Given the description of an element on the screen output the (x, y) to click on. 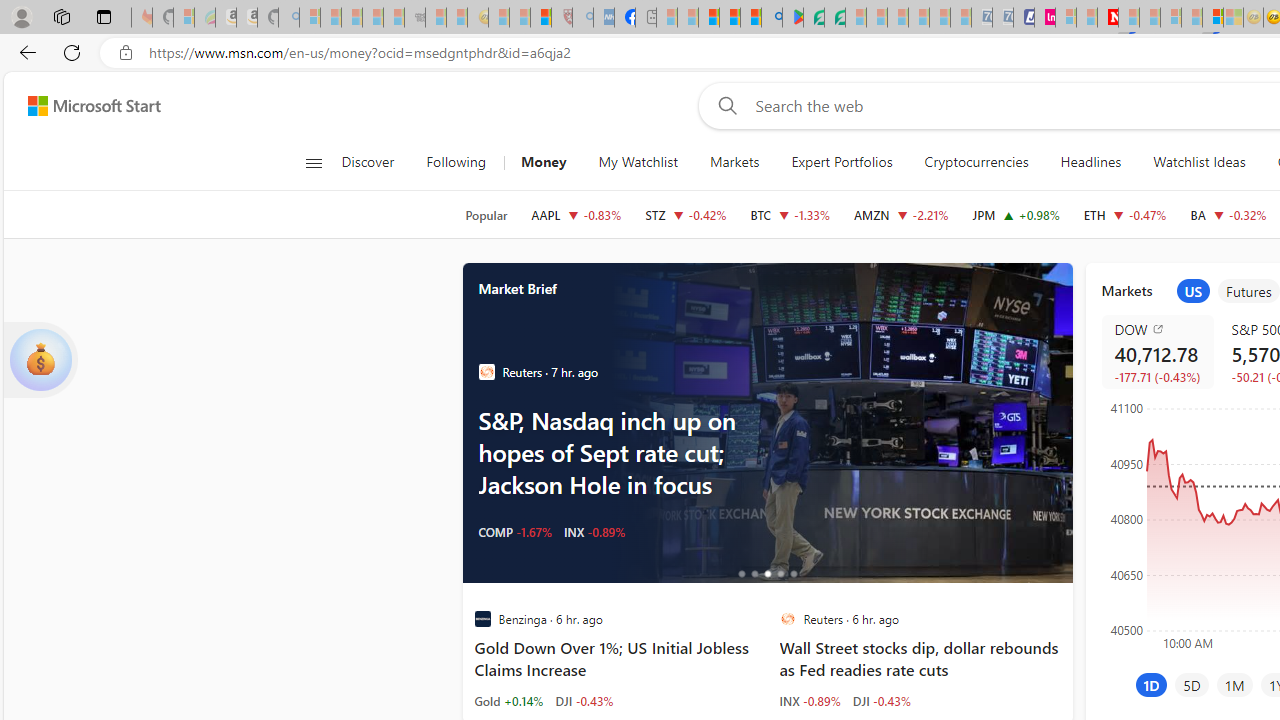
Combat Siege (414, 17)
Headlines (1090, 162)
Cryptocurrencies (976, 162)
JPM JPMORGAN CHASE & CO. increase 216.71 +2.11 +0.98% (1016, 214)
Expert Portfolios (842, 162)
DOW (1160, 328)
